Given the description of an element on the screen output the (x, y) to click on. 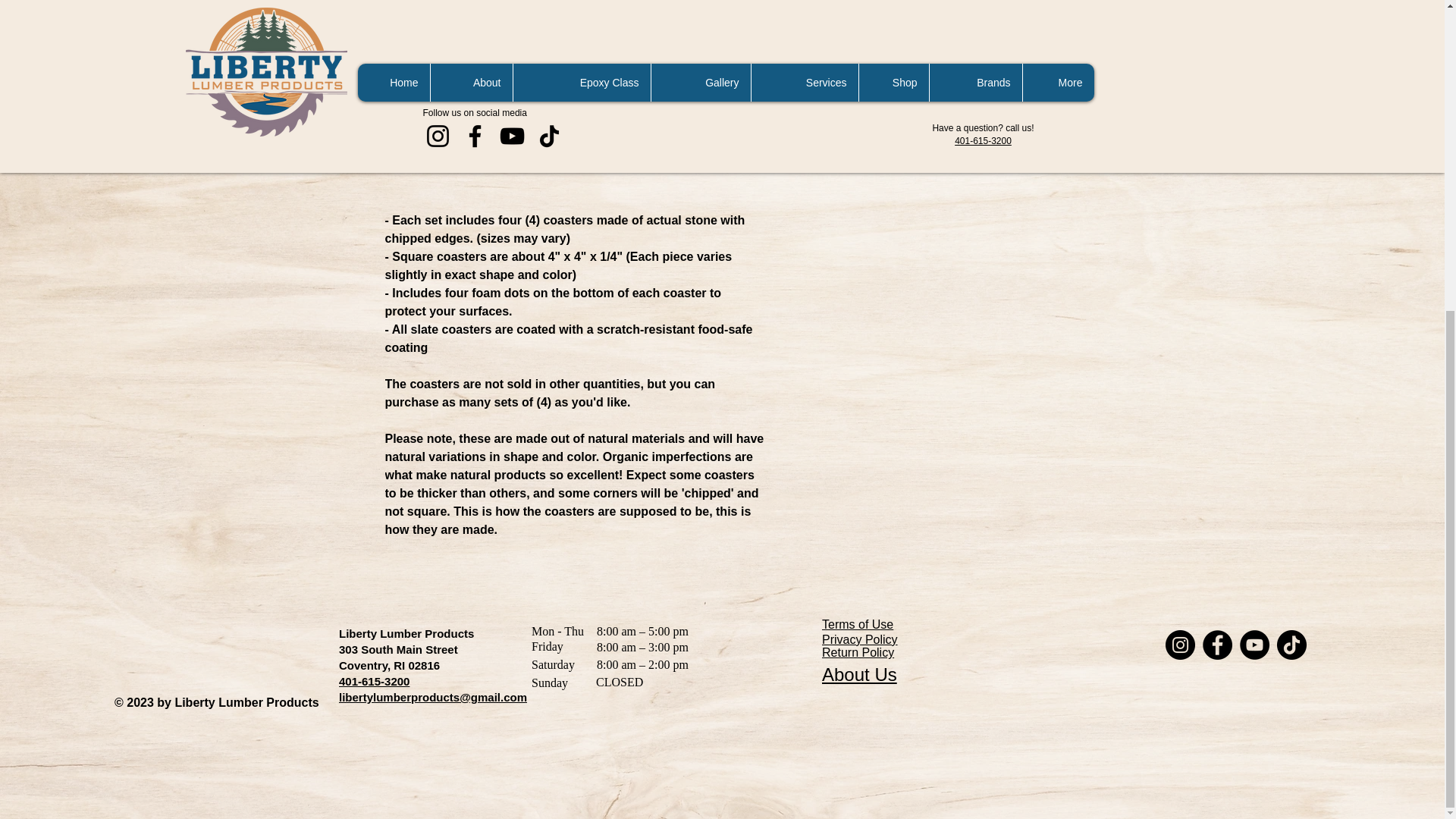
401-615-3200 (374, 680)
Return Policy (924, 50)
Add to Cart (924, 2)
